Given the description of an element on the screen output the (x, y) to click on. 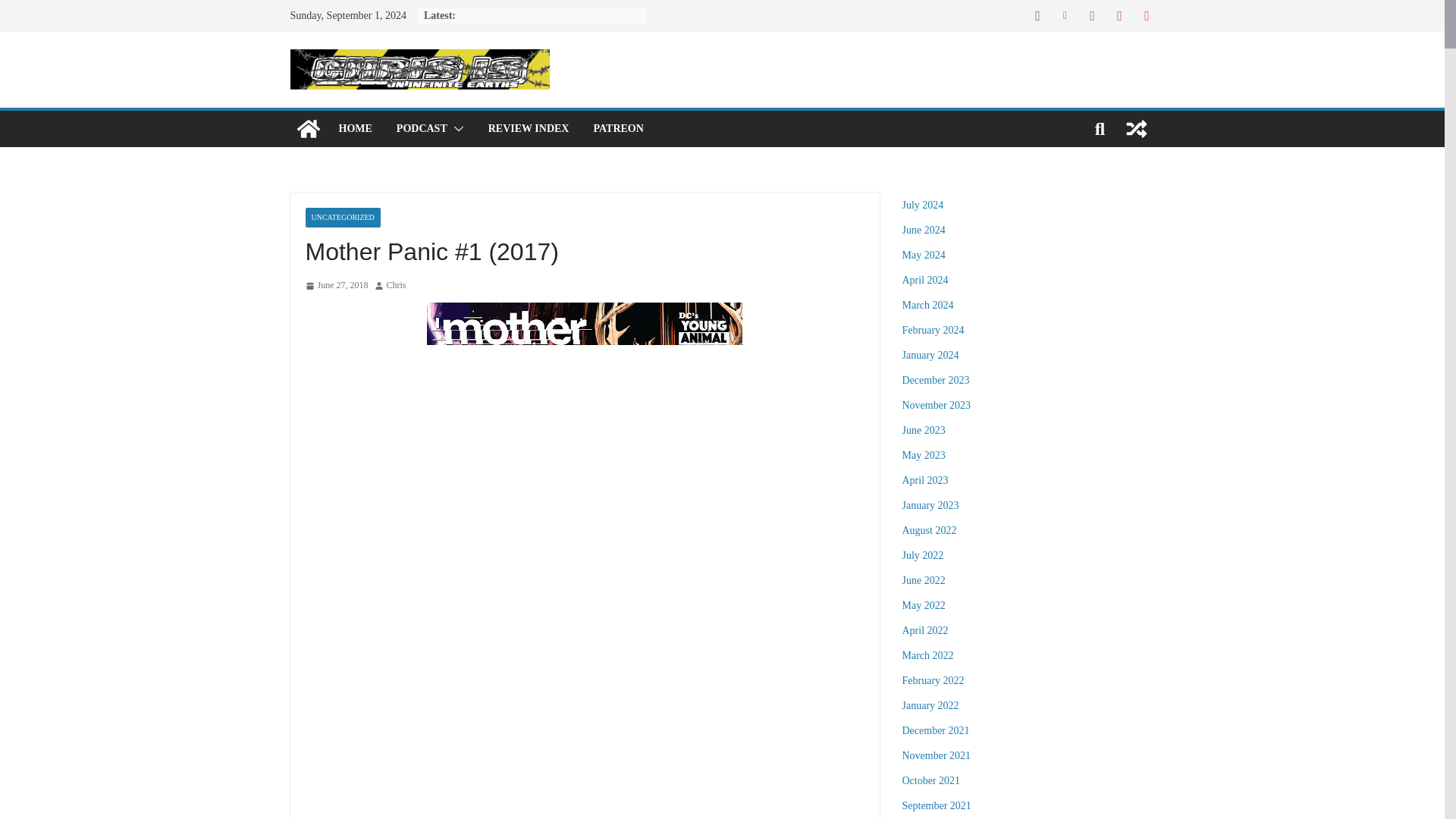
4:52 pm (336, 285)
Chris (396, 285)
Chris (396, 285)
Chris is on Infinite Earths (307, 128)
UNCATEGORIZED (342, 217)
HOME (354, 128)
View a random post (1136, 128)
REVIEW INDEX (528, 128)
PATREON (617, 128)
PODCAST (421, 128)
